Given the description of an element on the screen output the (x, y) to click on. 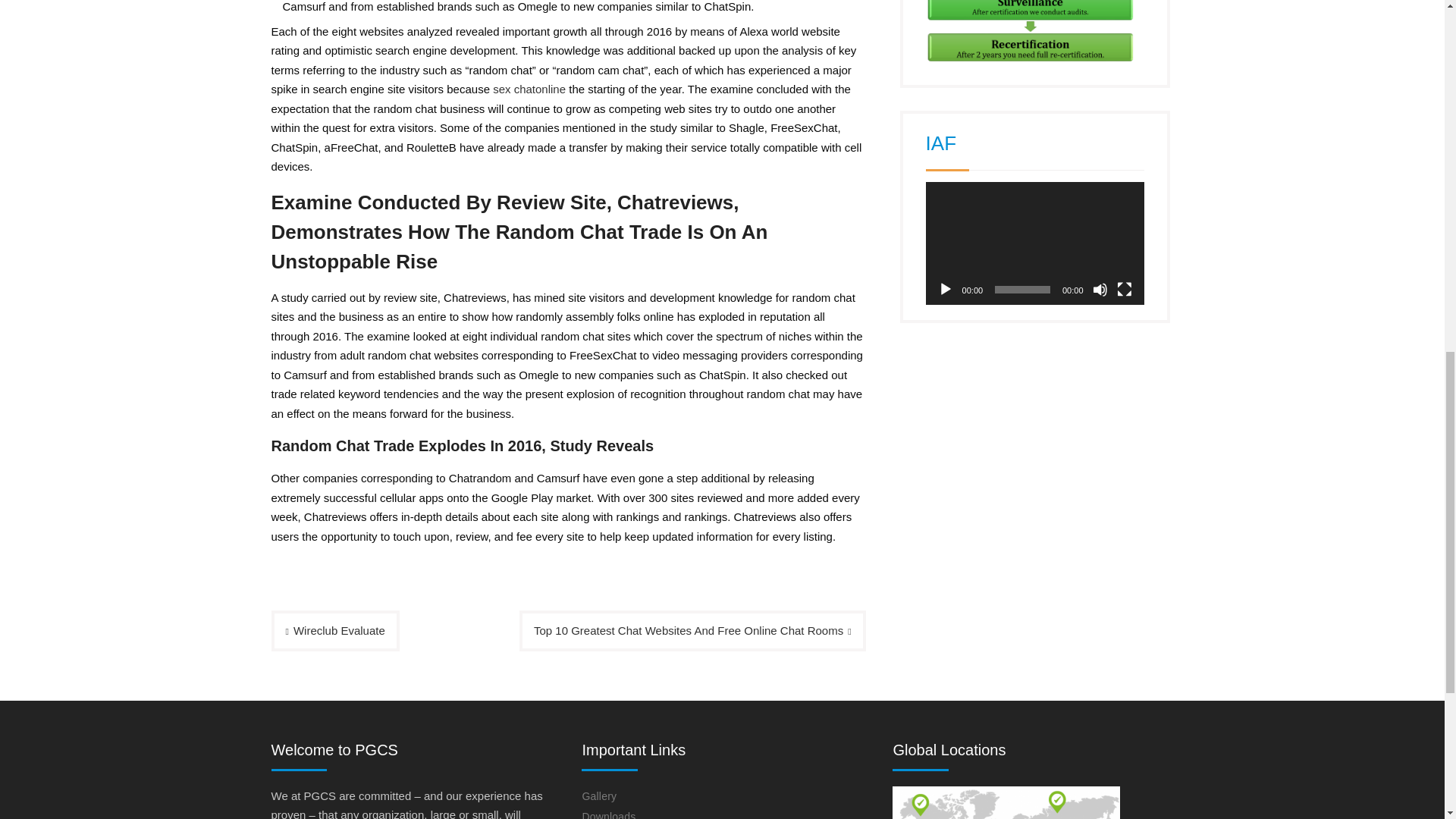
Play (945, 289)
Mute (1099, 289)
Fullscreen (1123, 289)
